Given the description of an element on the screen output the (x, y) to click on. 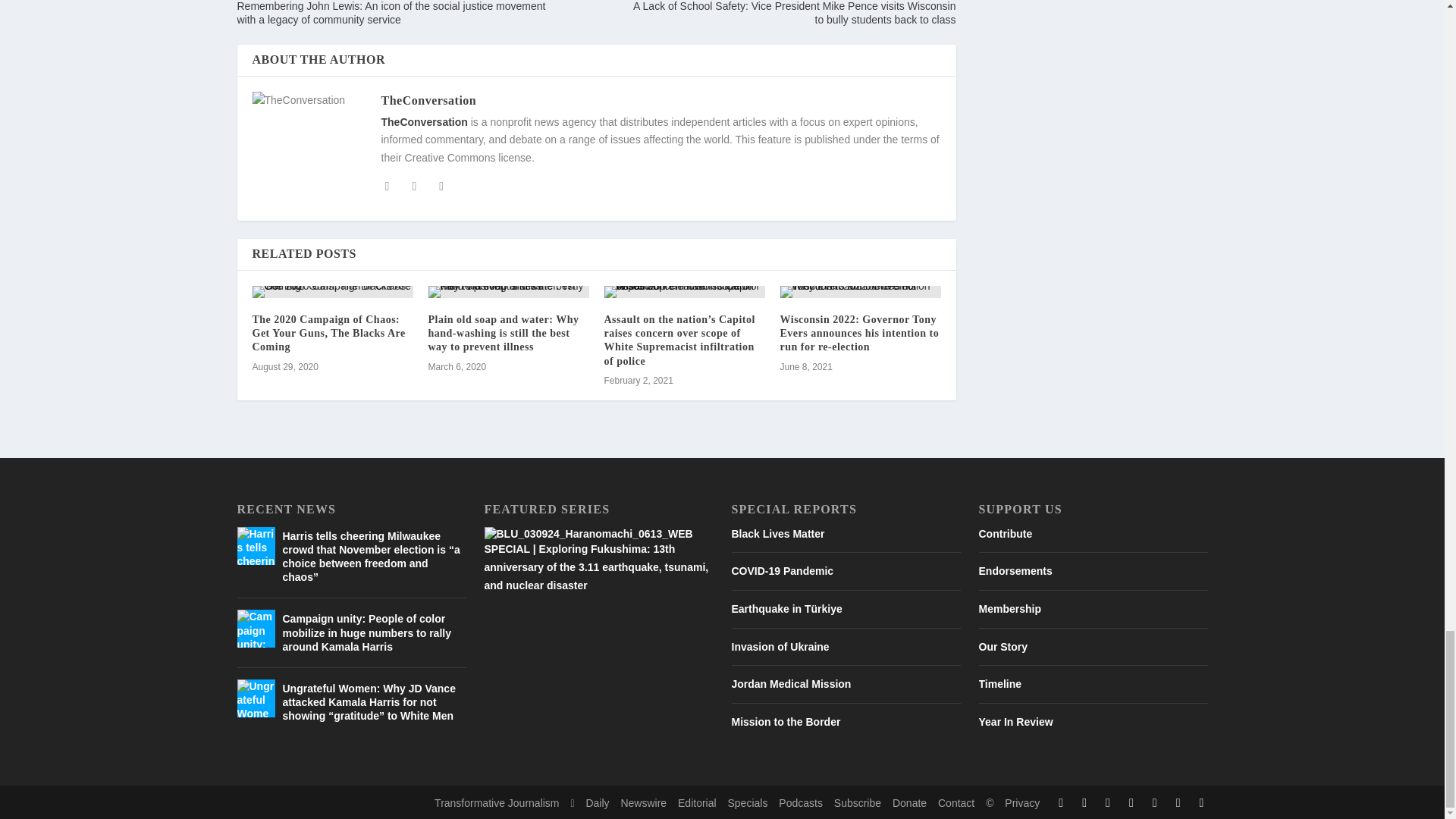
View all posts by TheConversation (428, 100)
